Given the description of an element on the screen output the (x, y) to click on. 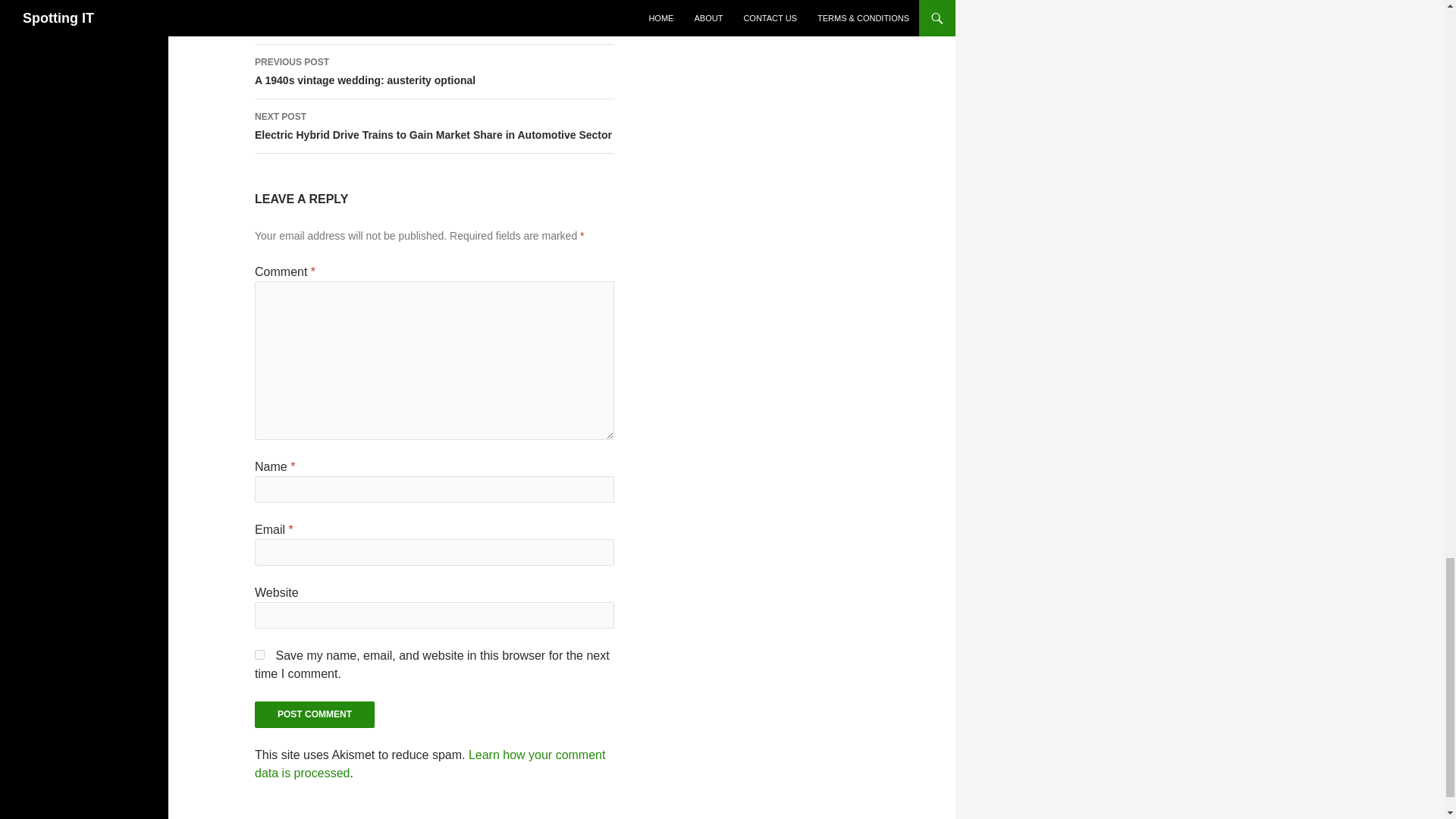
Post Comment (314, 714)
Learn how your comment data is processed (434, 72)
Post Comment (429, 763)
yes (314, 714)
